Given the description of an element on the screen output the (x, y) to click on. 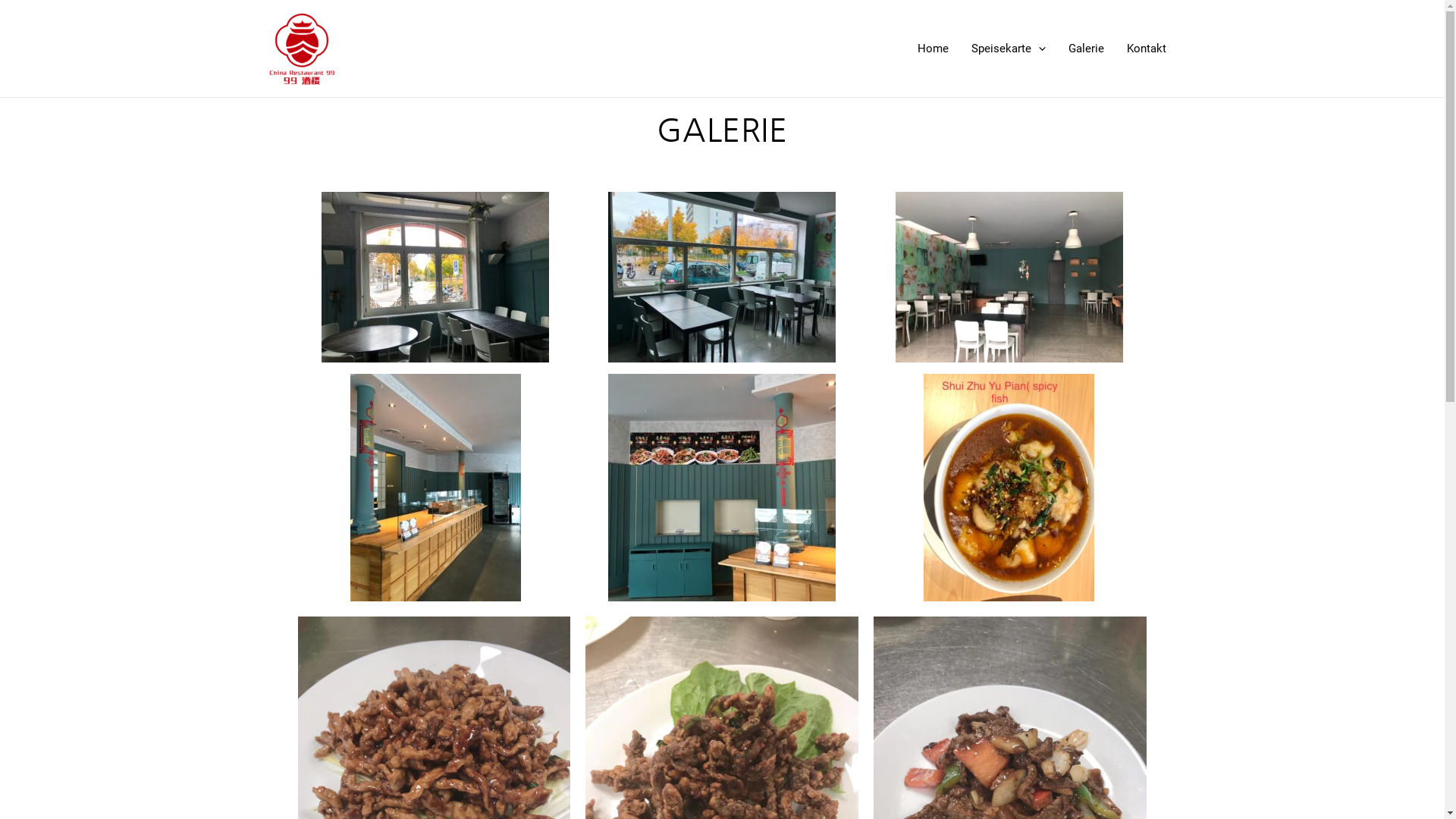
Kontakt Element type: text (1145, 48)
Galerie Element type: text (1086, 48)
Speisekarte Element type: text (1008, 48)
Home Element type: text (932, 48)
